Given the description of an element on the screen output the (x, y) to click on. 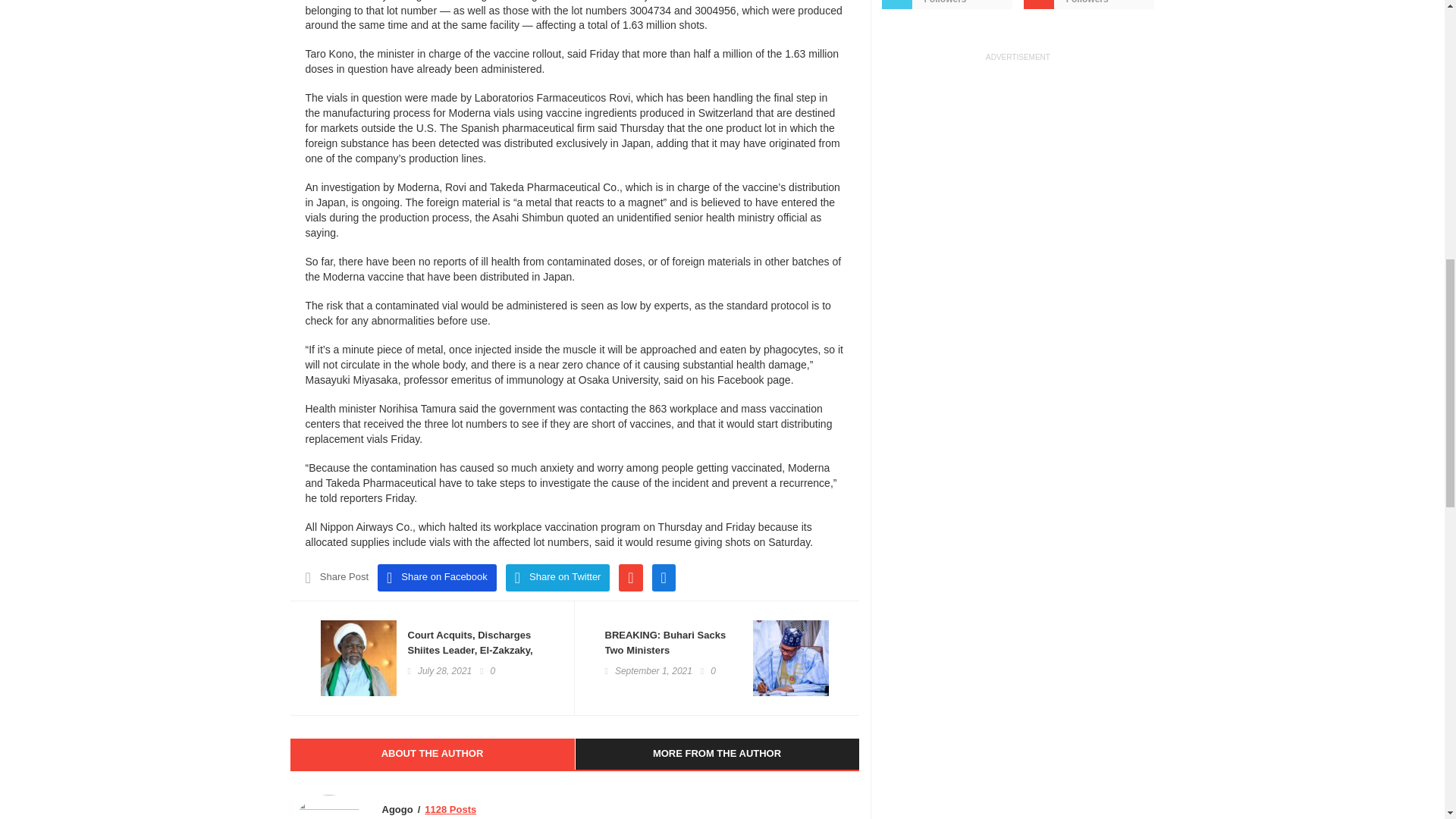
prev post (673, 643)
1128 Posts (450, 809)
0 (708, 671)
Share on Twitter (557, 577)
0 (487, 671)
BREAKING: Buhari Sacks Two Ministers (673, 643)
MORE FROM THE AUTHOR (717, 753)
Share on Facebook (436, 577)
prev post (475, 658)
ABOUT THE AUTHOR (431, 753)
